Given the description of an element on the screen output the (x, y) to click on. 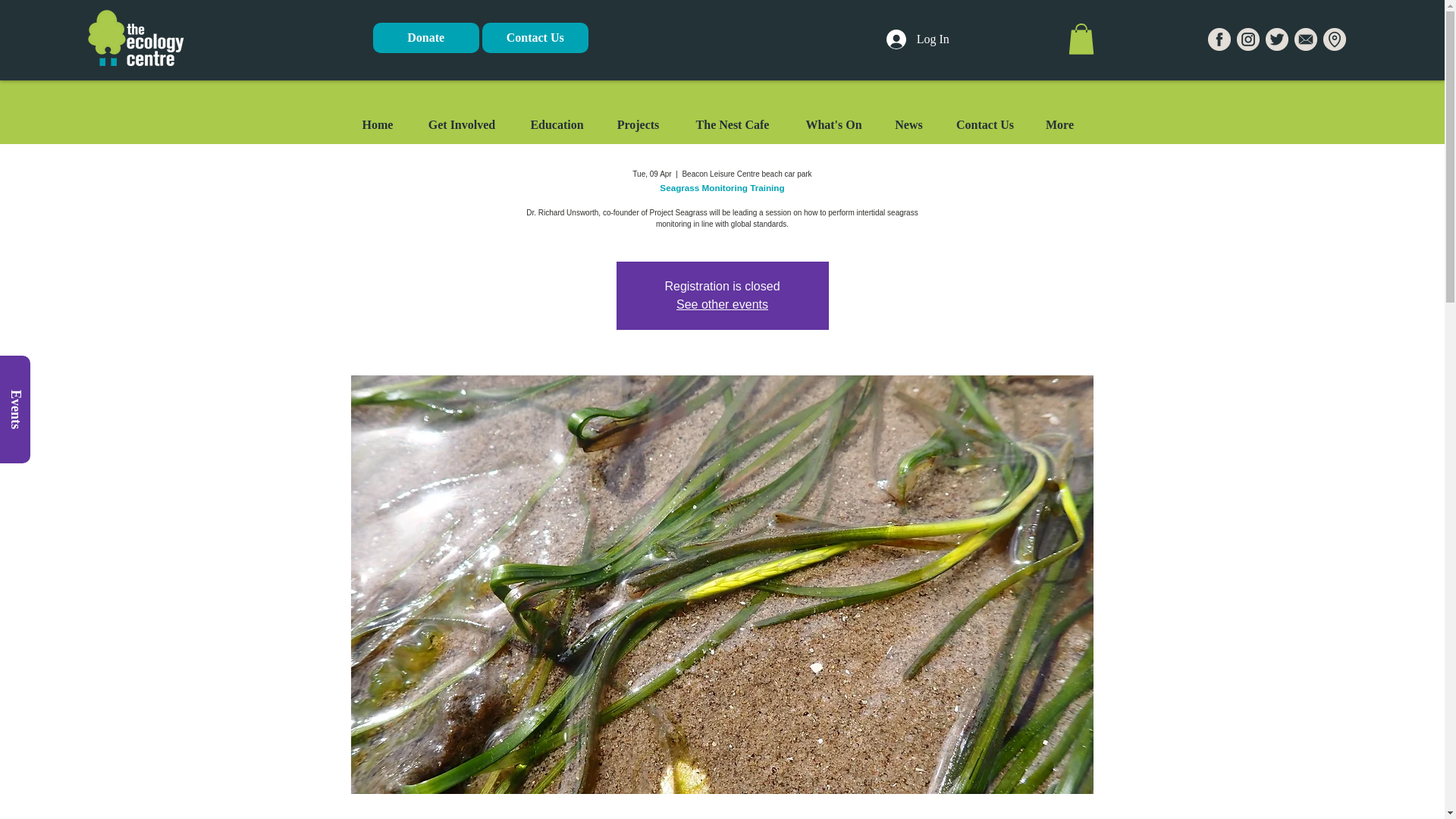
Donate (425, 37)
Education (556, 125)
Events (53, 370)
Contact Us (984, 125)
News (908, 125)
Home (378, 125)
See other events (722, 304)
Log In (917, 39)
Contact Us (534, 37)
The Nest Cafe (733, 125)
